Given the description of an element on the screen output the (x, y) to click on. 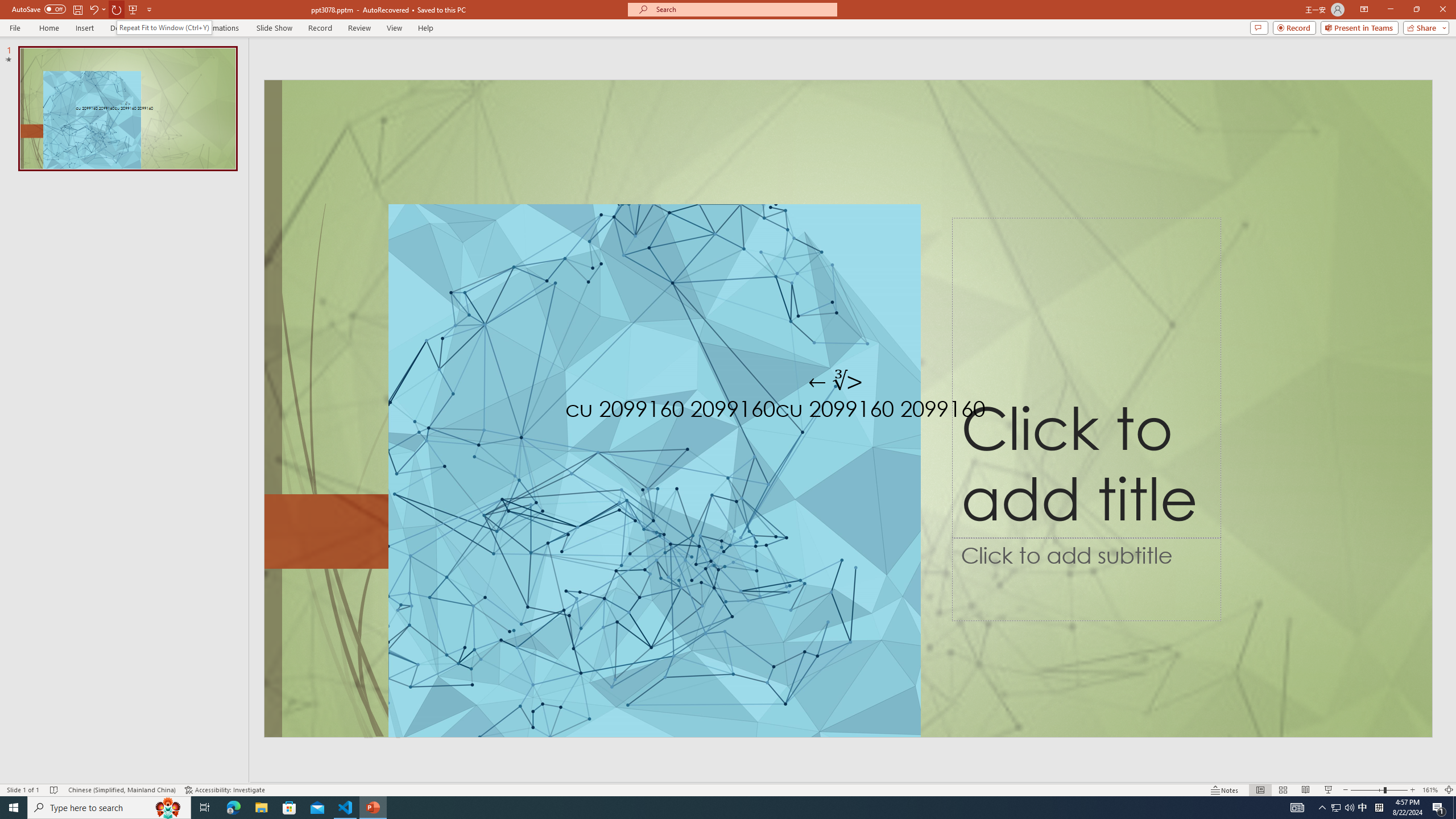
Zoom 161% (1430, 790)
Repeat Fit to Window (Ctrl+Y) (164, 27)
